Given the description of an element on the screen output the (x, y) to click on. 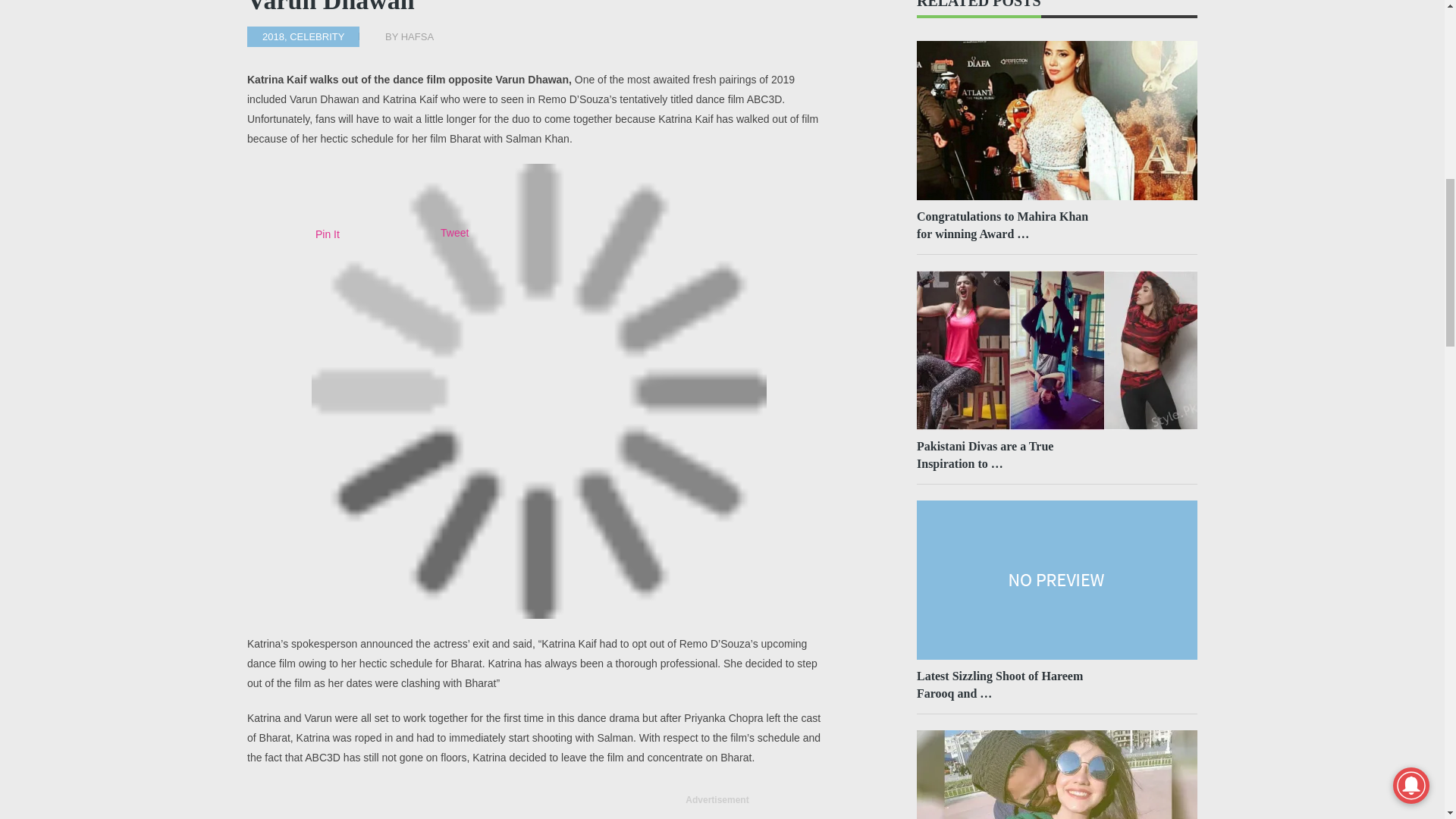
Advertisement (717, 814)
Congratulations to Mahira Khan for winning Award At DIAFA (1011, 225)
